Given the description of an element on the screen output the (x, y) to click on. 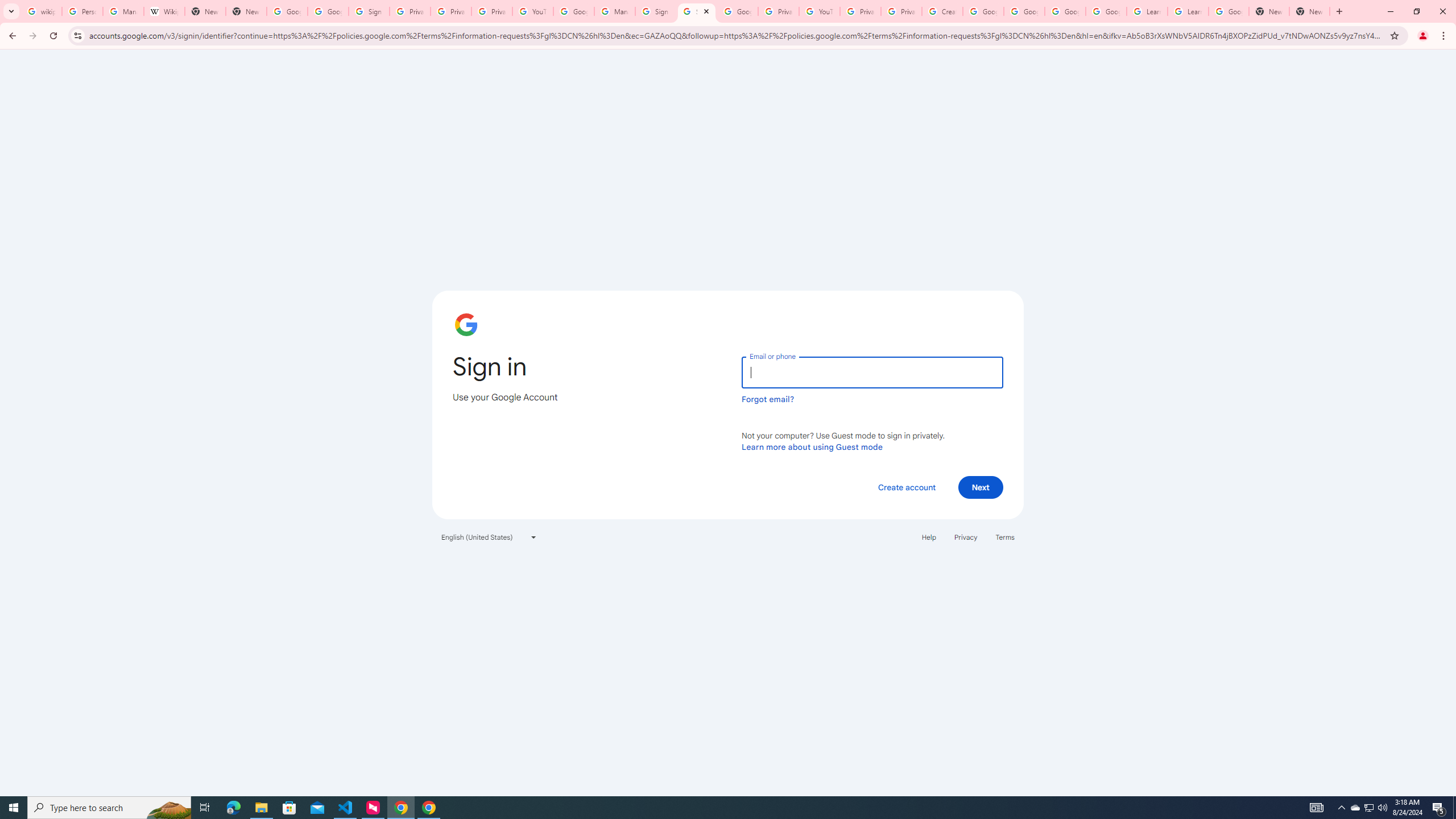
Google Drive: Sign-in (327, 11)
Email or phone (871, 372)
Sign in - Google Accounts (696, 11)
